Given the description of an element on the screen output the (x, y) to click on. 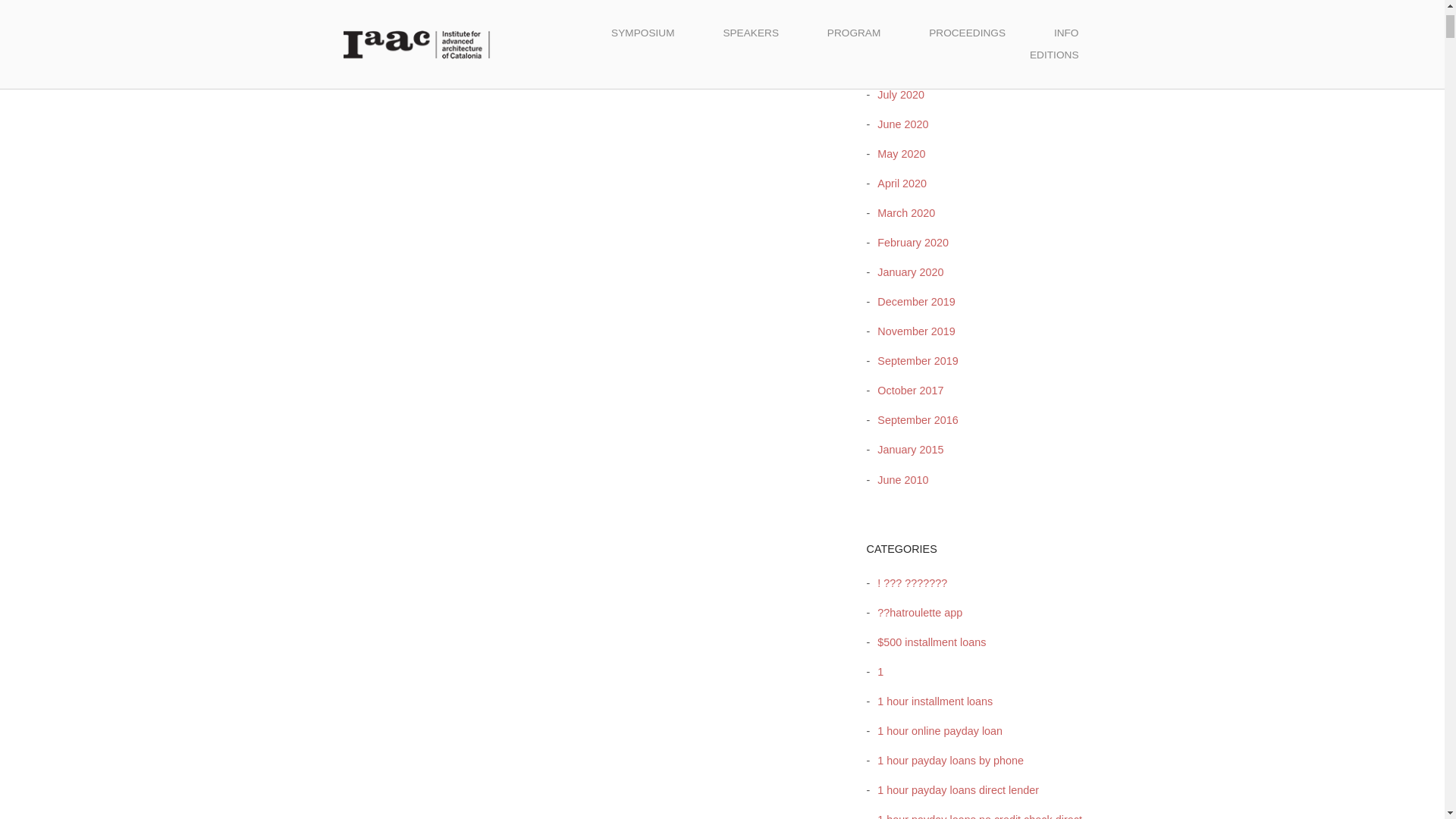
yes (347, 25)
October 2020 (906, 6)
Post Comment (403, 58)
September 2020 (913, 35)
Post Comment (403, 58)
